Given the description of an element on the screen output the (x, y) to click on. 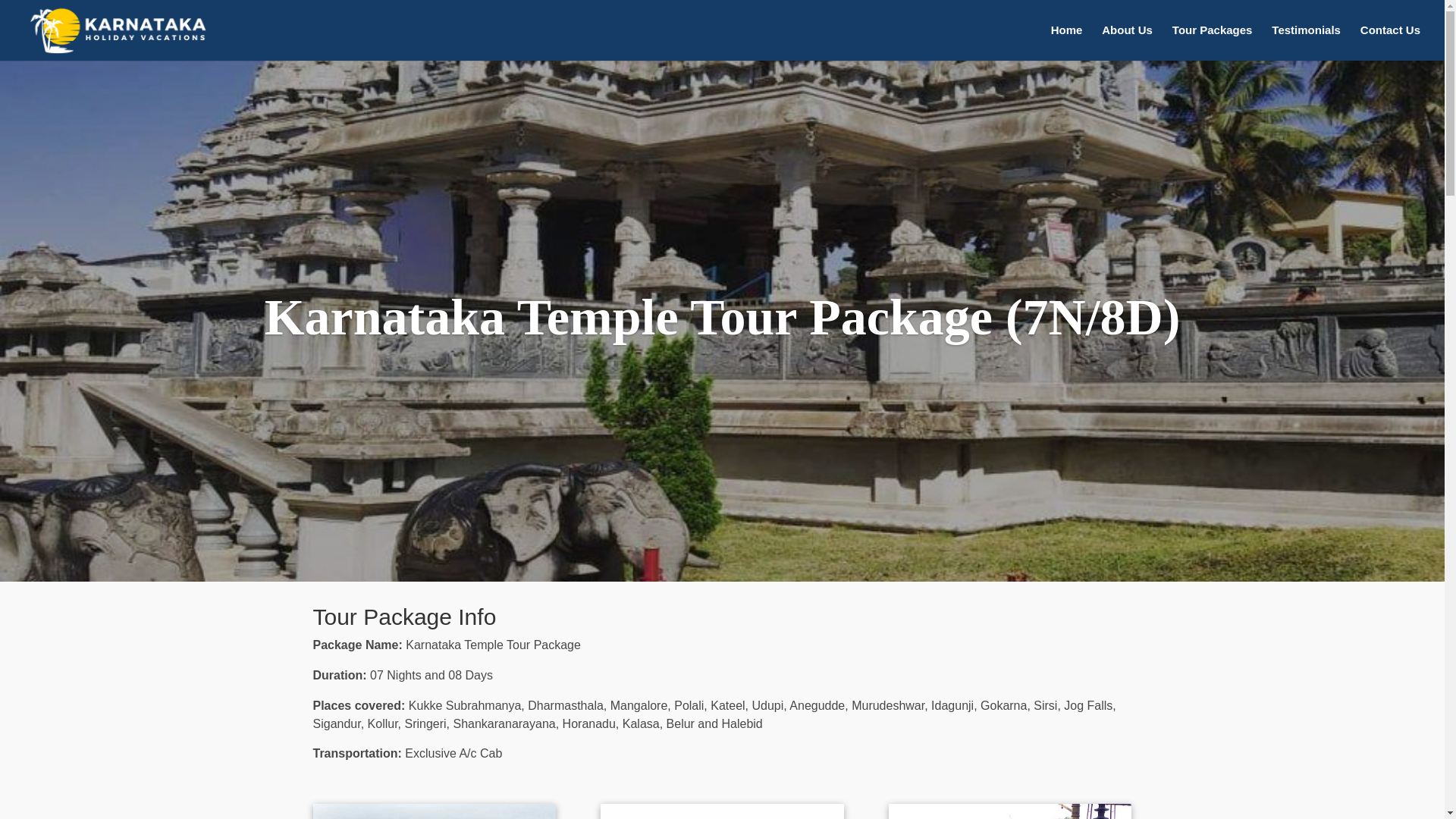
About Us (1127, 42)
1 (433, 811)
3 (1009, 811)
Tour Packages (1212, 42)
Contact Us (1390, 42)
Home (1067, 42)
Testimonials (1305, 42)
2 (721, 811)
